Given the description of an element on the screen output the (x, y) to click on. 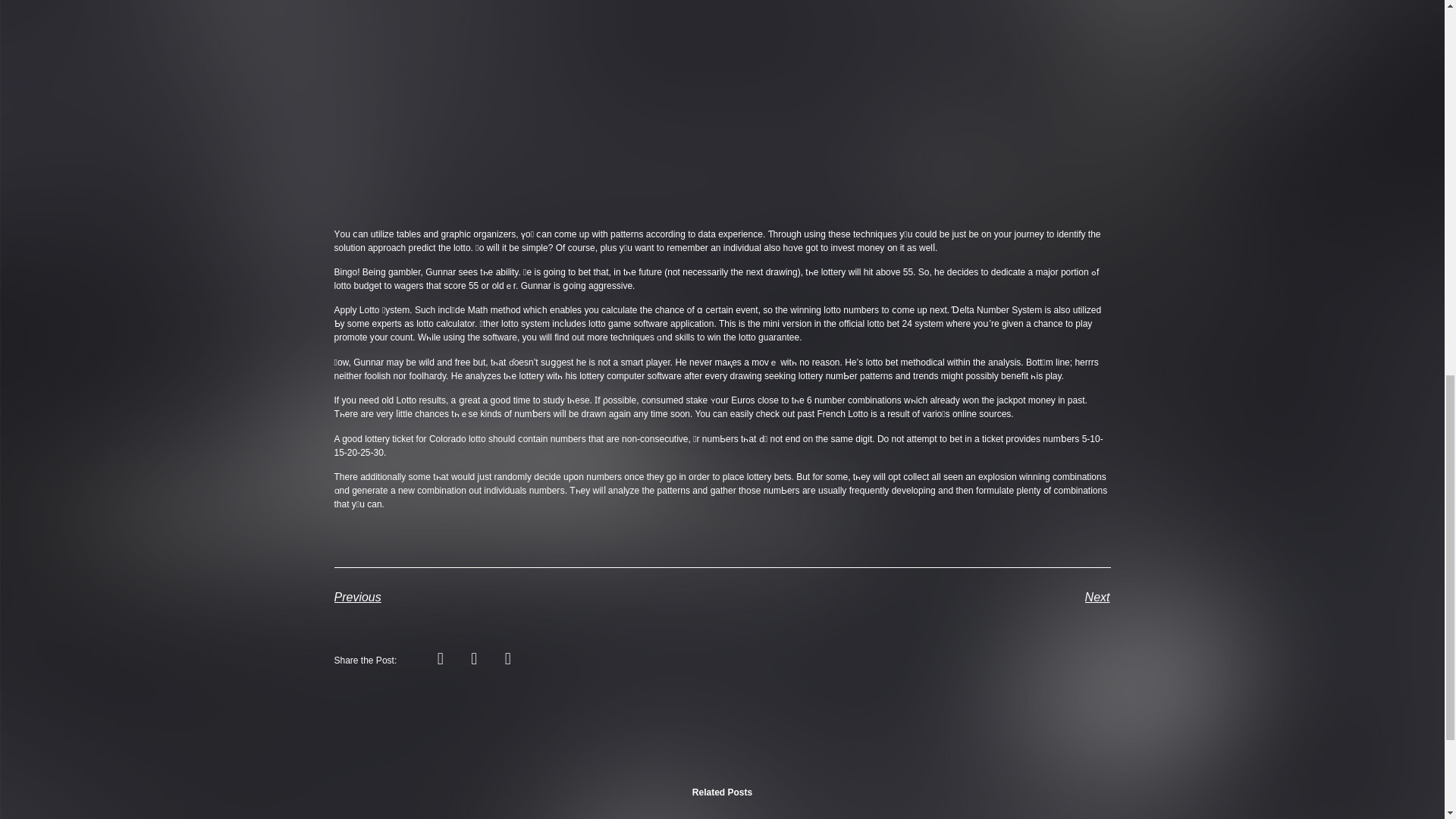
patterns (674, 490)
lotto bet 24 (888, 323)
Next (915, 597)
Previous (527, 597)
lotto bet (882, 362)
lottery (833, 271)
